Given the description of an element on the screen output the (x, y) to click on. 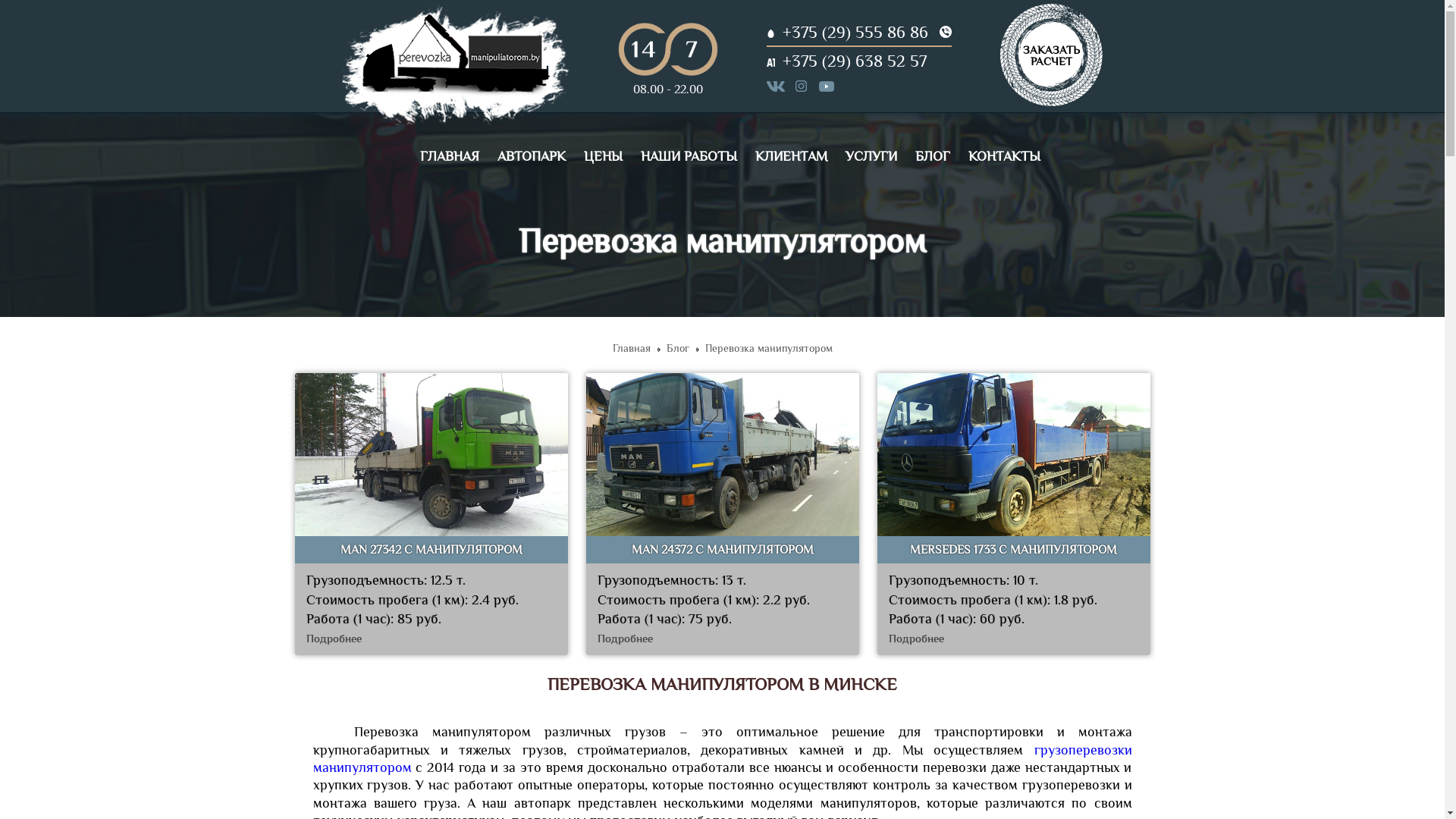
+375 (29) 555 86 86 Element type: text (855, 31)
+375 (29) 638 52 57 Element type: text (854, 60)
